Given the description of an element on the screen output the (x, y) to click on. 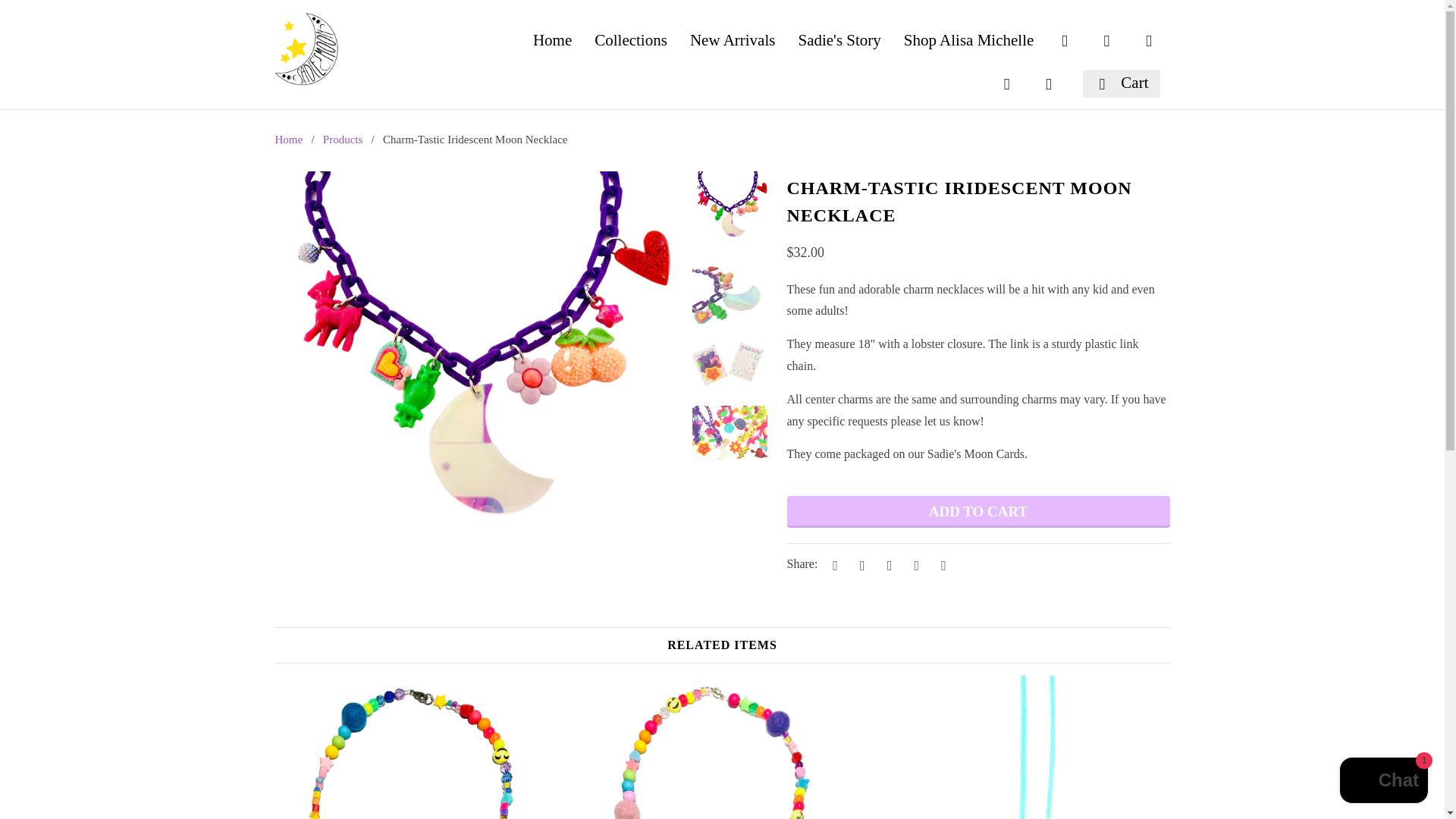
Products (342, 139)
Home (288, 139)
Sadie's Moon (288, 139)
Share this on Facebook (859, 564)
Share this on Twitter (832, 564)
ADD TO CART (978, 511)
Email this to a friend (940, 564)
Products (342, 139)
Share this on Pinterest (887, 564)
